Given the description of an element on the screen output the (x, y) to click on. 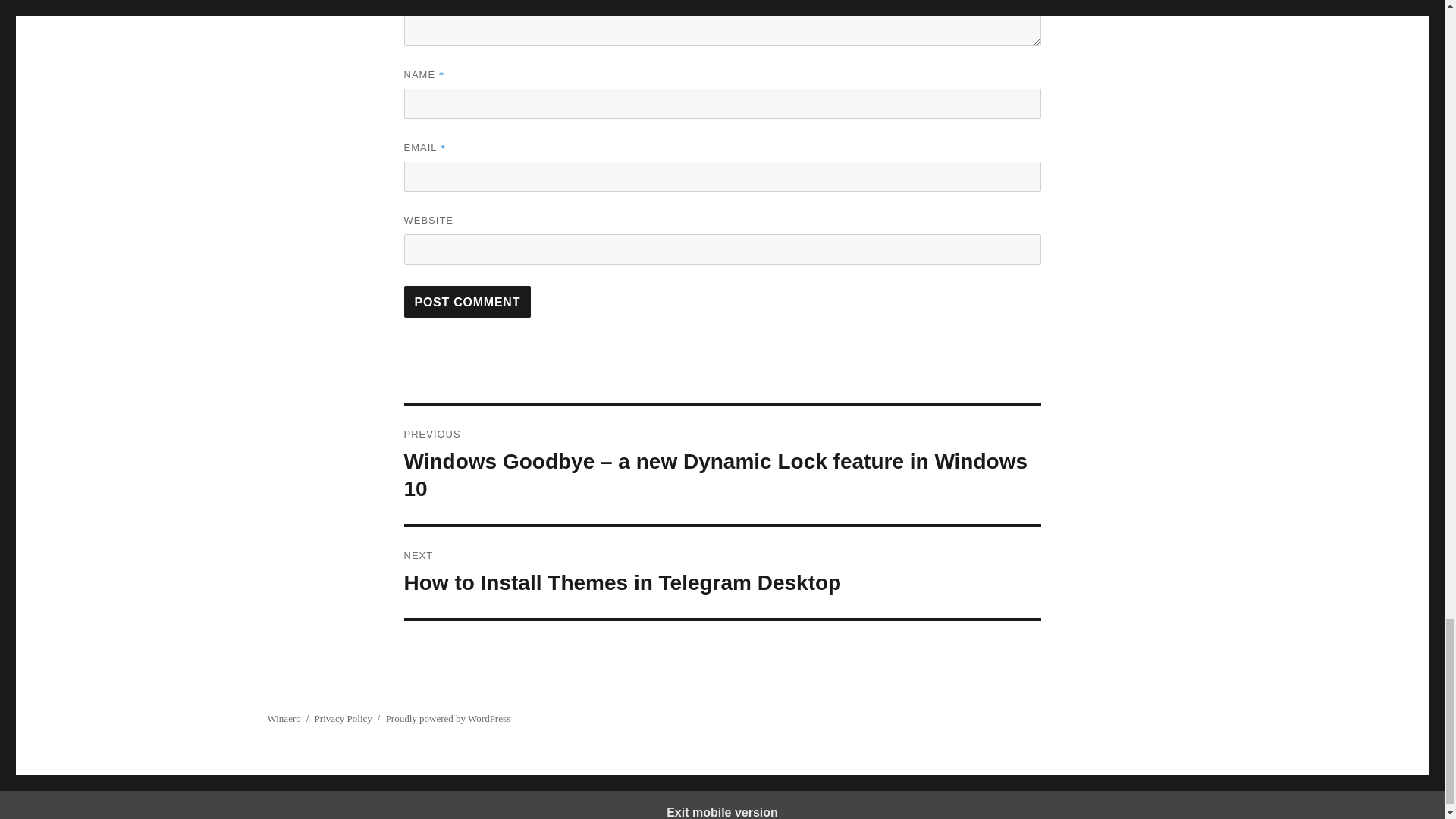
Privacy Policy (343, 717)
Post Comment (467, 301)
Post Comment (467, 301)
Winaero (282, 717)
Proudly powered by WordPress (722, 572)
